Given the description of an element on the screen output the (x, y) to click on. 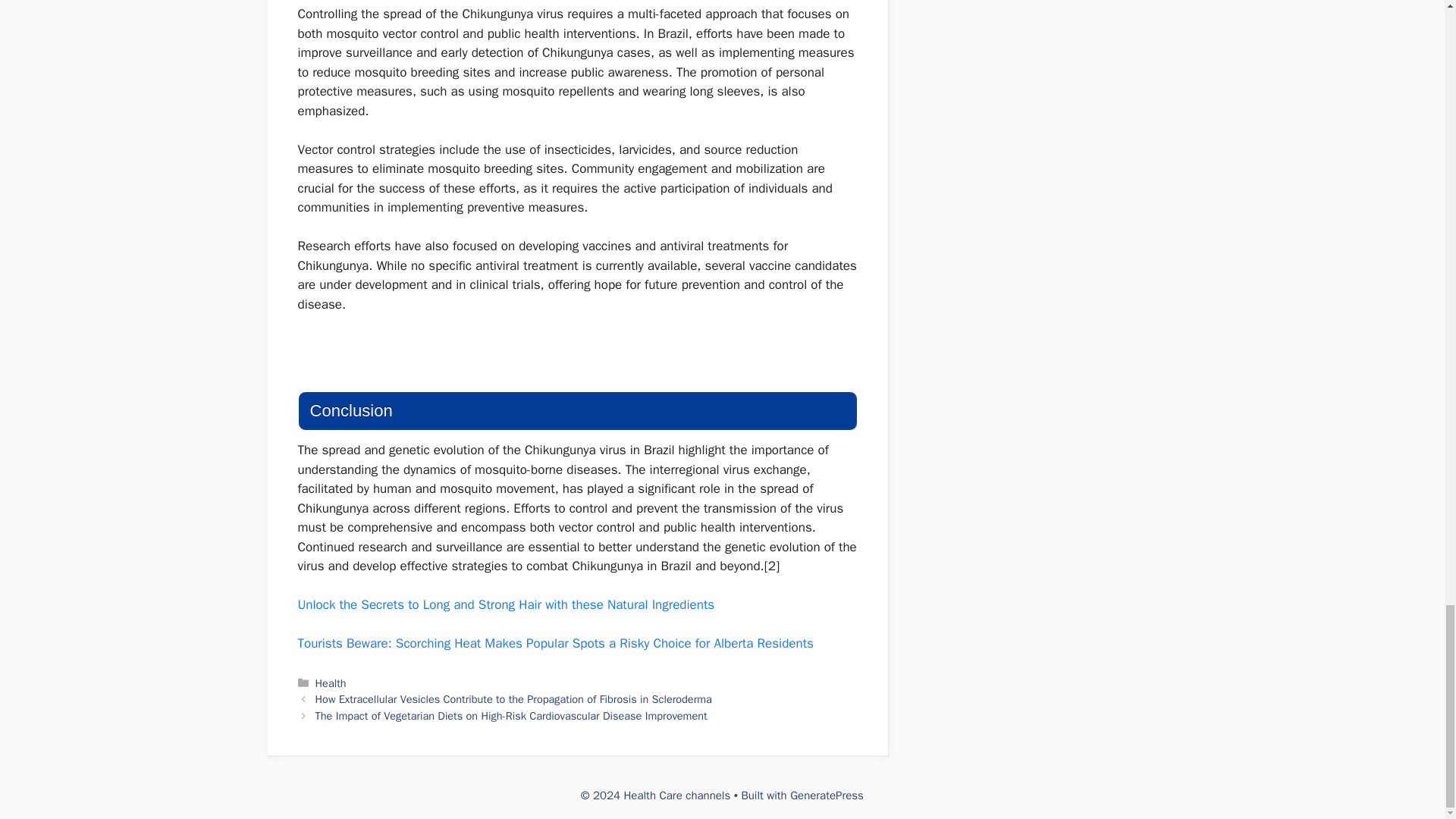
Health (330, 683)
GeneratePress (826, 795)
